Given the description of an element on the screen output the (x, y) to click on. 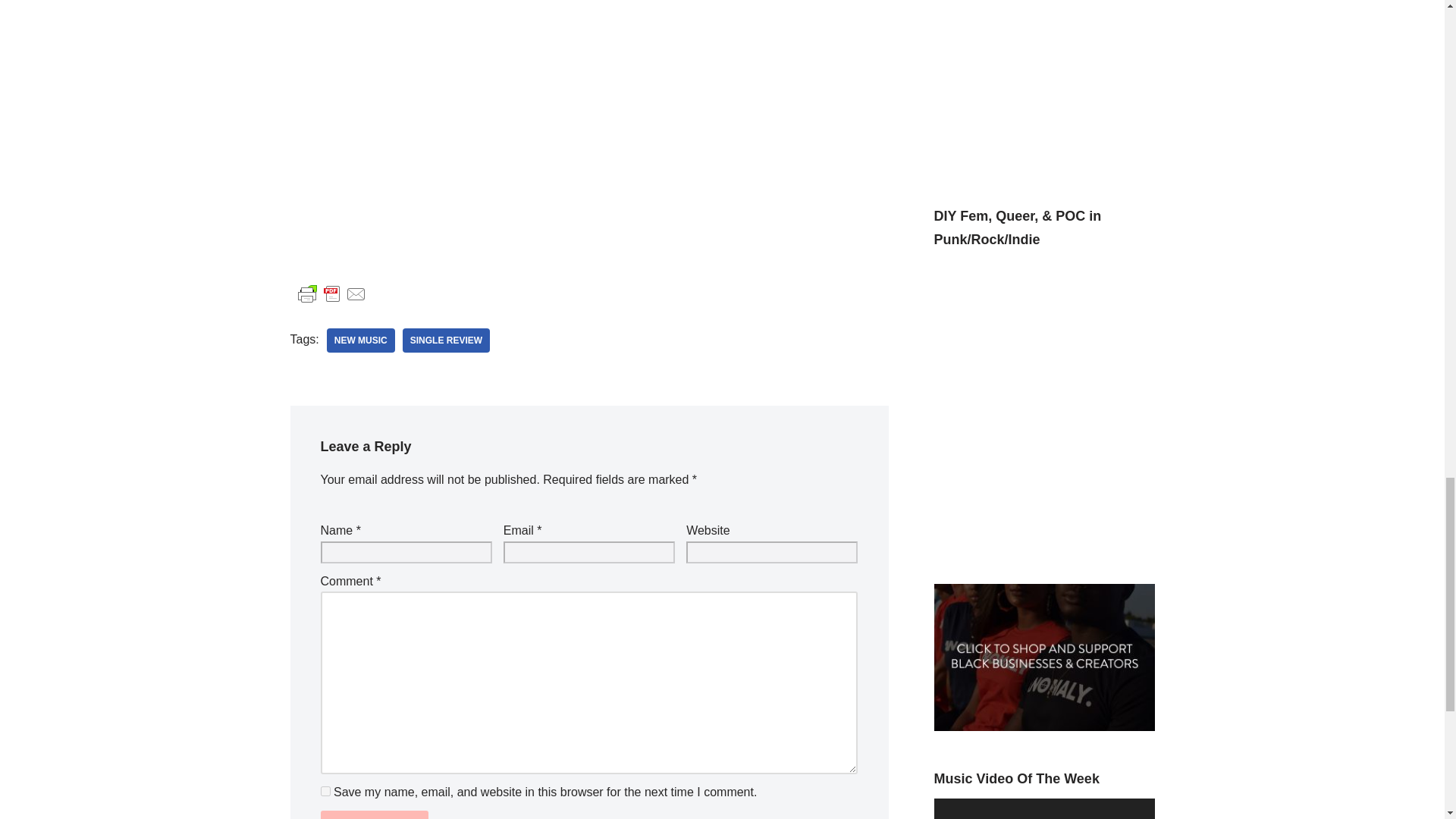
single review (446, 340)
new music (360, 340)
Post Comment (374, 814)
yes (325, 791)
